Given the description of an element on the screen output the (x, y) to click on. 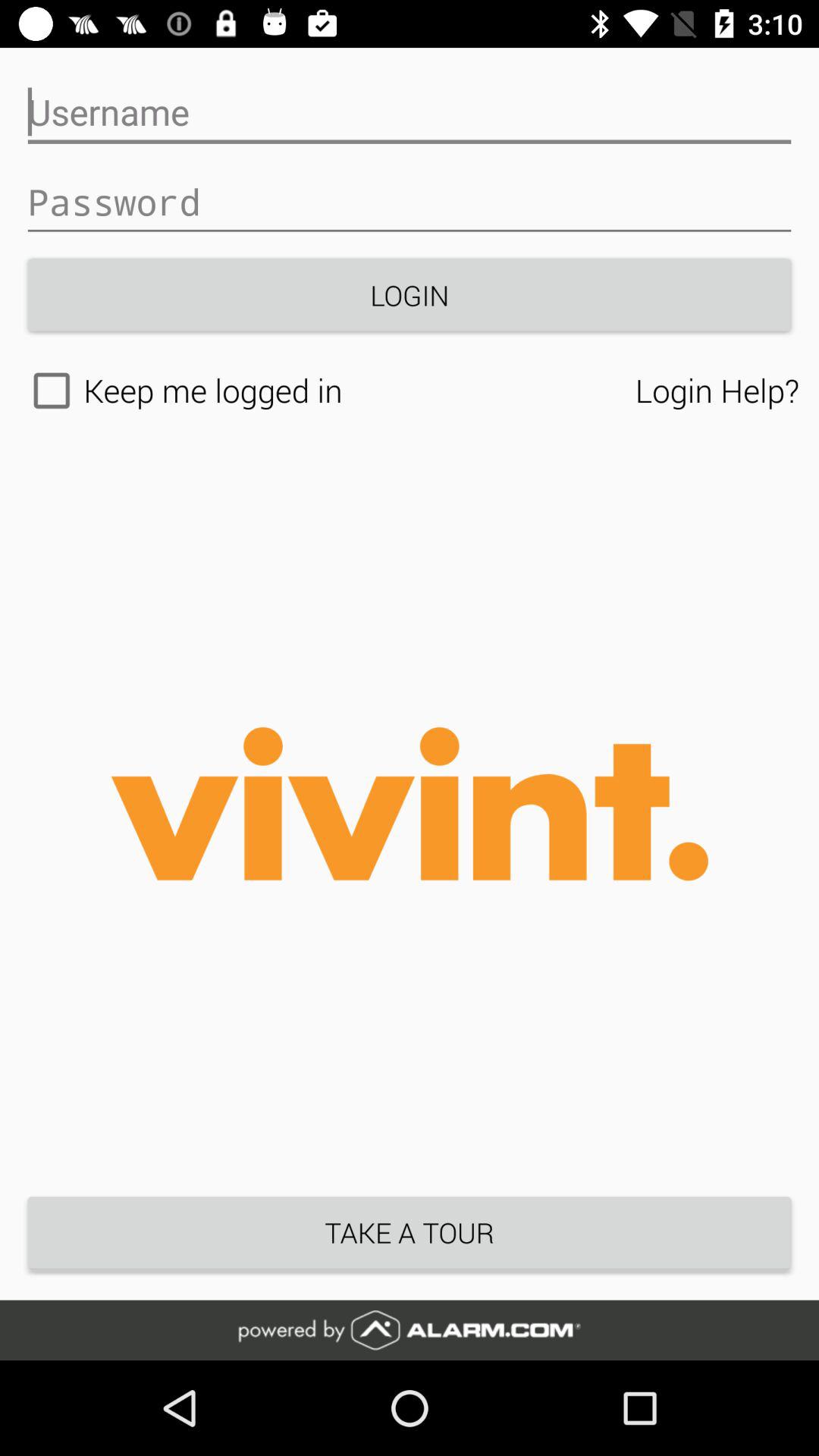
launch icon to the right of the keep me logged icon (717, 390)
